Given the description of an element on the screen output the (x, y) to click on. 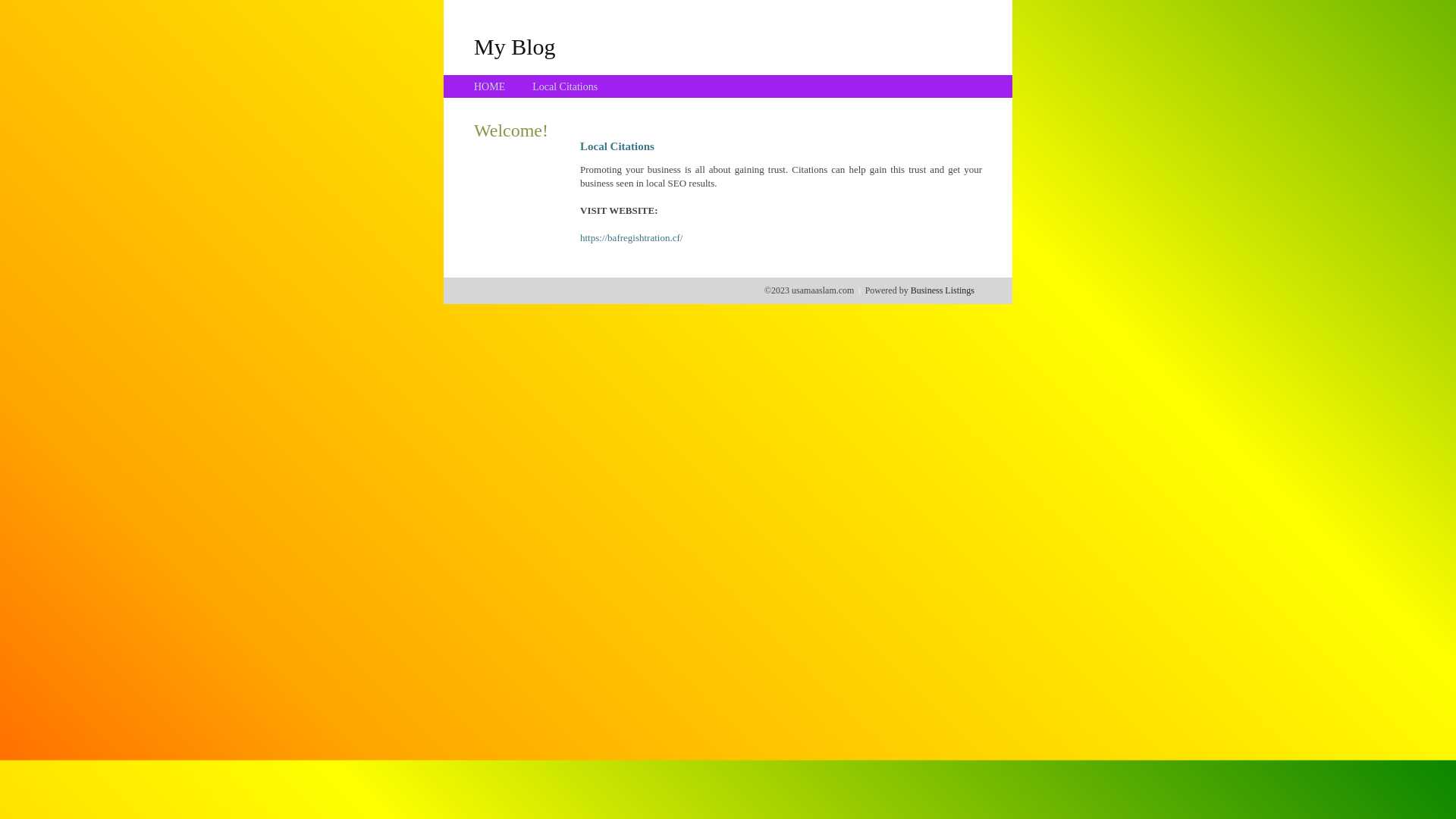
Local Citations Element type: text (564, 86)
HOME Element type: text (489, 86)
https://bafregishtration.cf/ Element type: text (631, 237)
My Blog Element type: text (514, 46)
Business Listings Element type: text (942, 290)
